Given the description of an element on the screen output the (x, y) to click on. 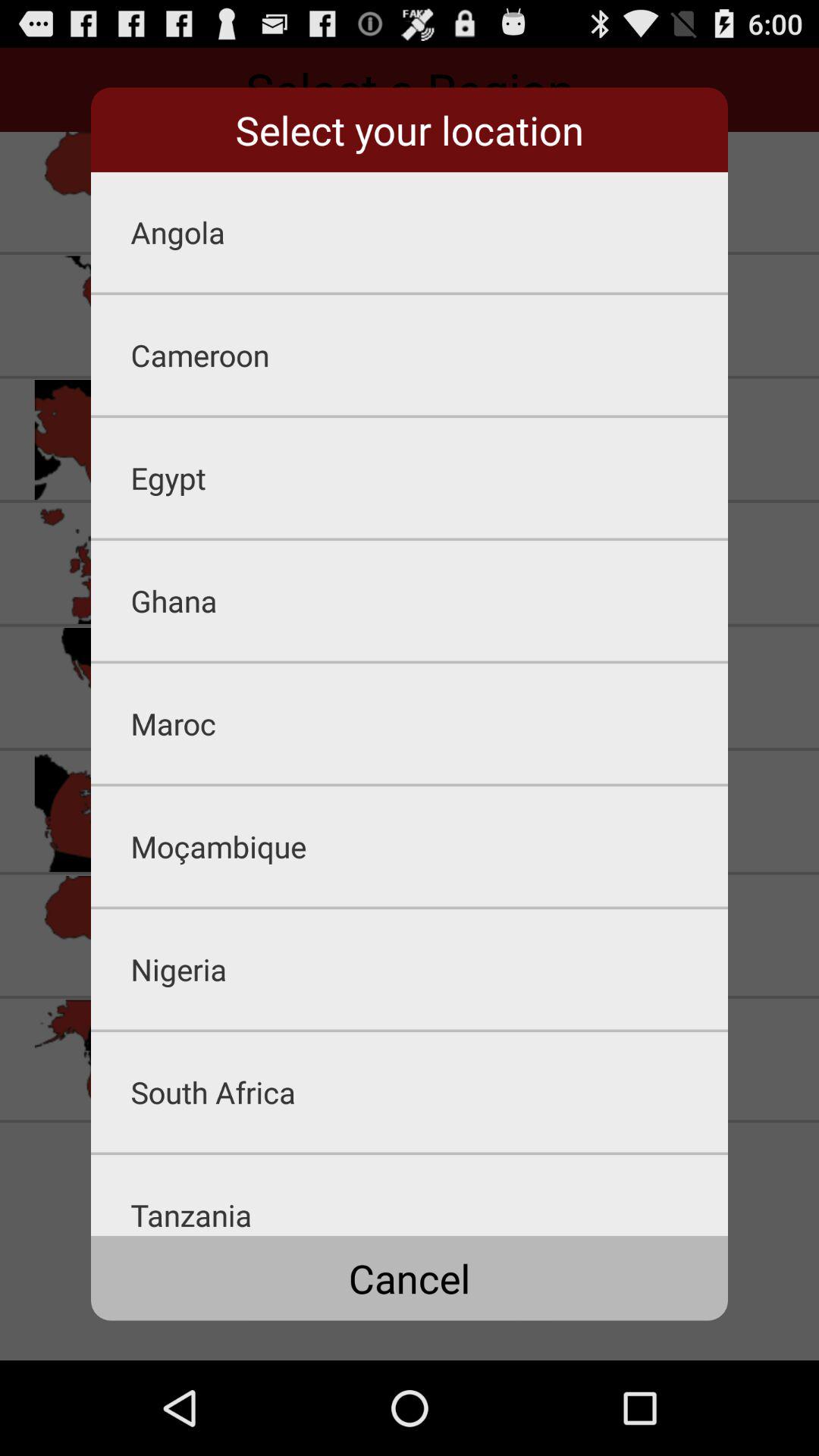
open app above cancel app (429, 1195)
